Given the description of an element on the screen output the (x, y) to click on. 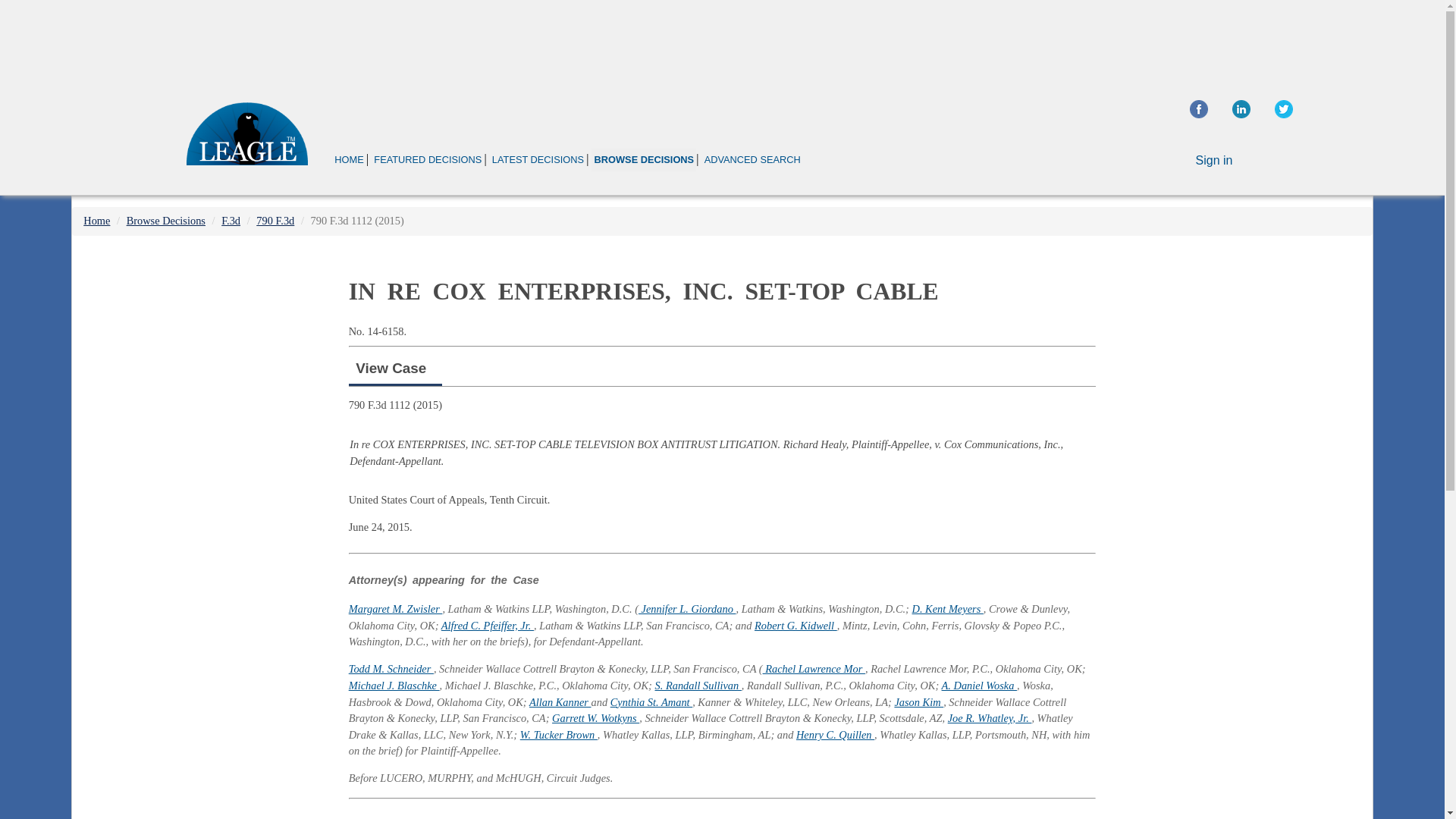
Jennifer L. Giordano (687, 608)
F.3d (230, 220)
Sign in (1214, 160)
LATEST DECISIONS (537, 159)
Rachel Lawrence Mor (813, 668)
Browse Decisions (165, 220)
Garrett W. Wotkyns (595, 717)
W. Tucker Brown (557, 734)
BROWSE DECISIONS (643, 159)
ADVANCED SEARCH (752, 159)
Home (96, 220)
Cynthia St. Amant (651, 702)
D. Kent Meyers (948, 608)
Allan Kanner (560, 702)
Jason Kim (918, 702)
